Given the description of an element on the screen output the (x, y) to click on. 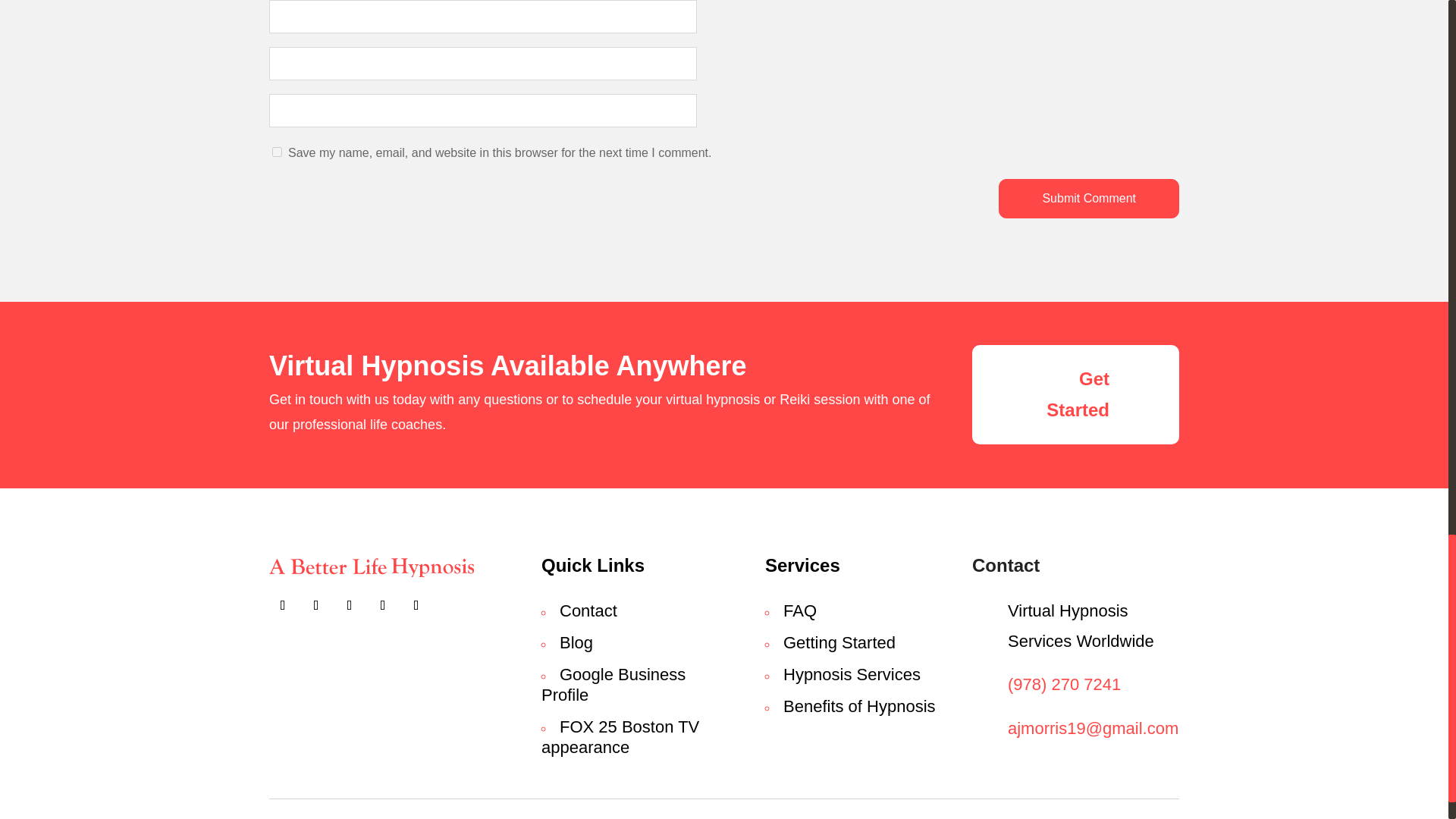
Follow on Facebook (283, 605)
Contact (588, 610)
Follow on Google (349, 605)
Hypnosis Services (851, 674)
Follow on Instagram (382, 605)
Benefits of Hypnosis (859, 705)
Submit Comment (1088, 198)
Get Started (1075, 394)
yes (277, 152)
Getting Started (839, 642)
Blog (575, 642)
Follow on X (316, 605)
Follow on LinkedIn (416, 605)
FOX 25 Boston TV appearance (619, 736)
A Better Life Hypnosis (372, 567)
